Given the description of an element on the screen output the (x, y) to click on. 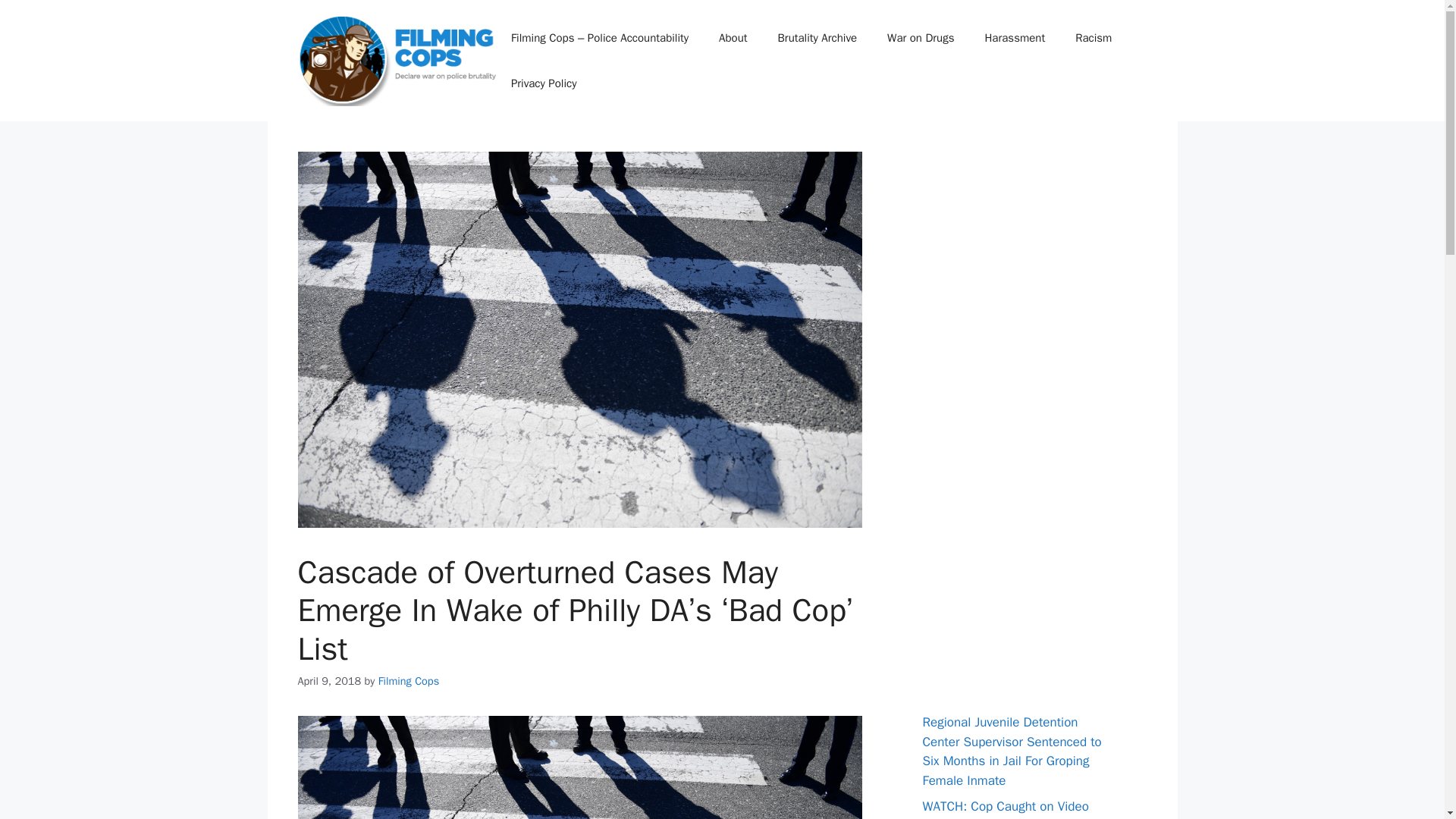
War on Drugs (920, 37)
Harassment (1014, 37)
Brutality Archive (817, 37)
Filming Cops (408, 680)
Privacy Policy (544, 83)
About (732, 37)
Racism (1092, 37)
View all posts by Filming Cops (408, 680)
